Given the description of an element on the screen output the (x, y) to click on. 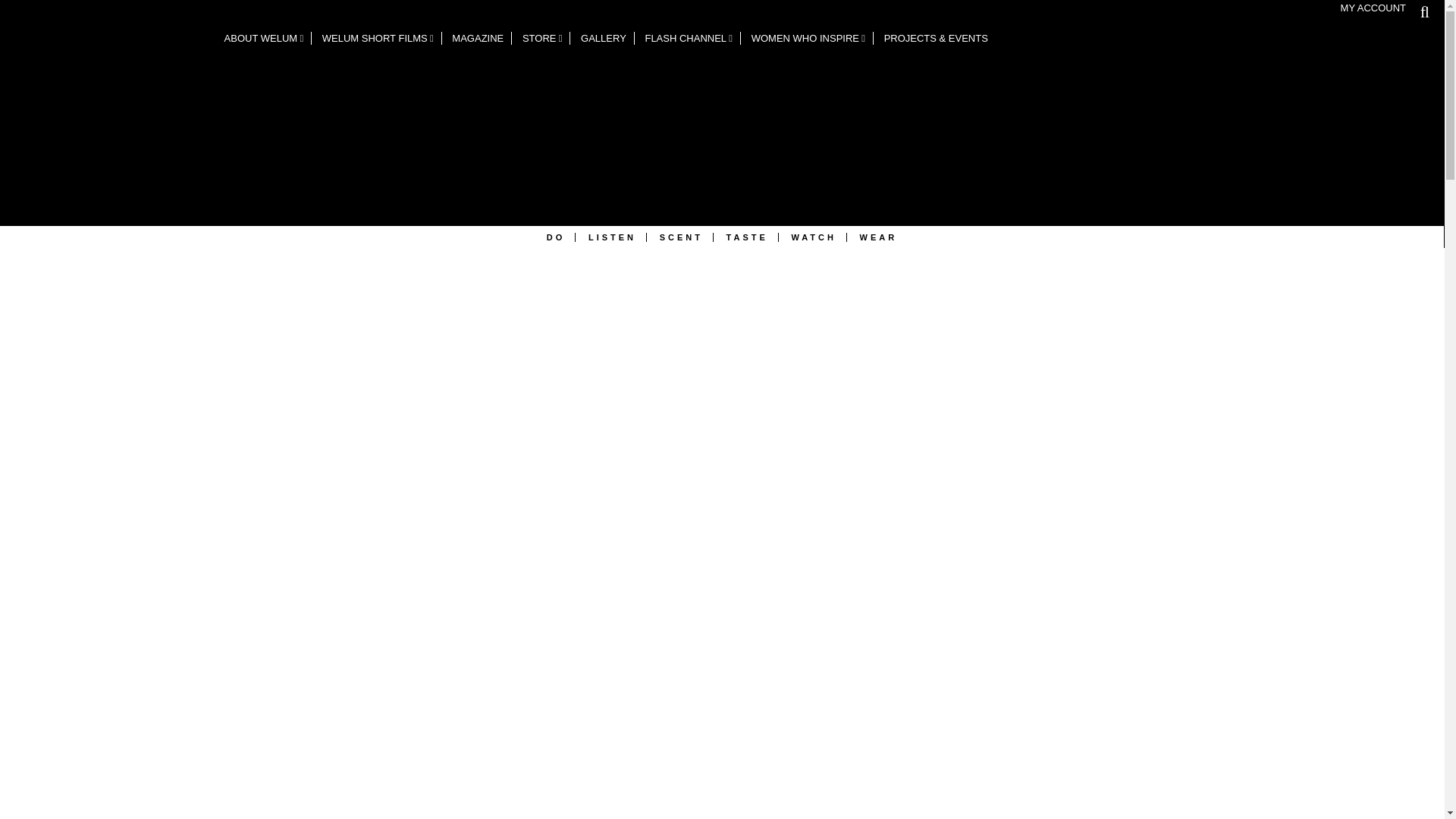
GALLERY (603, 38)
Go to Home (108, 118)
WELUM SHORT FILMS (378, 38)
FLASH CHANNEL (689, 38)
WOMEN WHO INSPIRE (808, 38)
DO (556, 236)
ABOUT WELUM (264, 38)
MY ACCOUNT (1373, 7)
STORE (542, 38)
Magazine (478, 38)
